Given the description of an element on the screen output the (x, y) to click on. 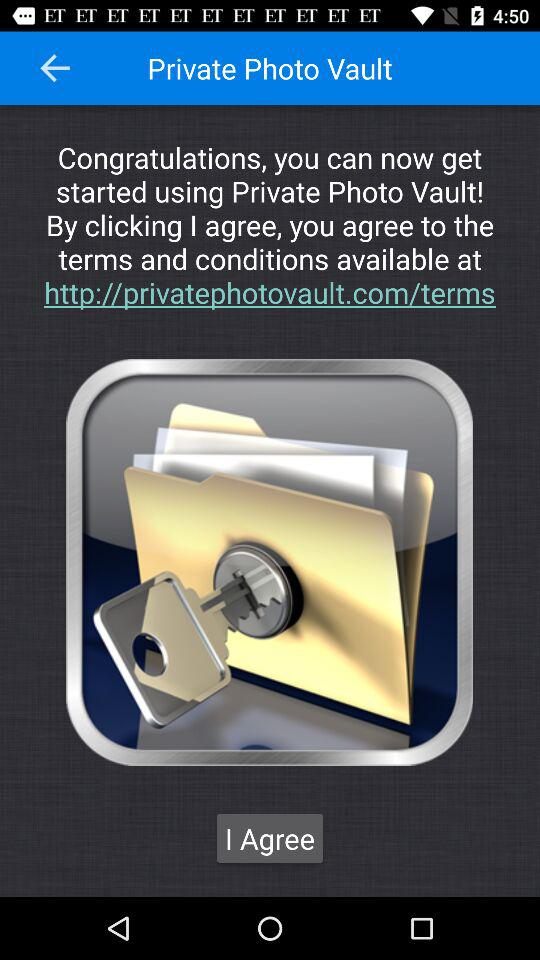
go back (55, 68)
